Given the description of an element on the screen output the (x, y) to click on. 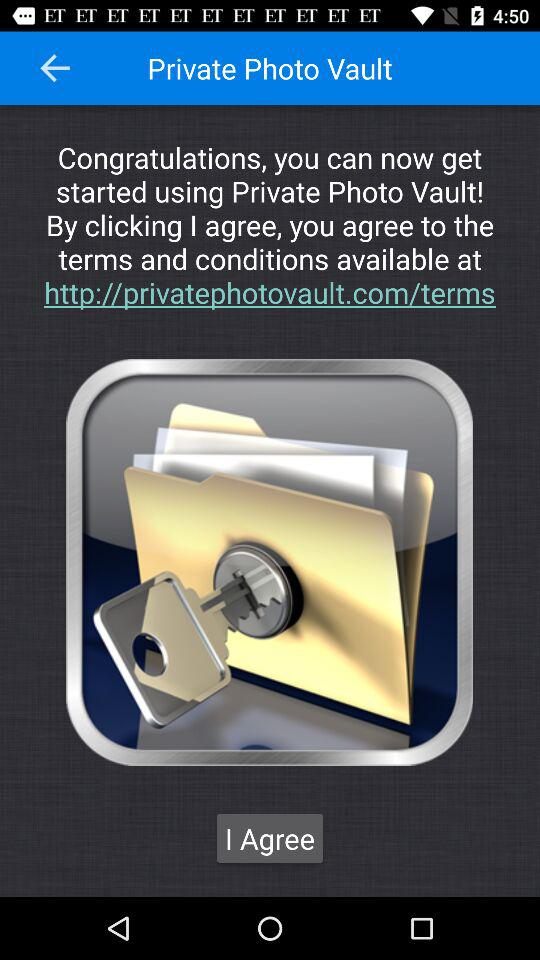
go back (55, 68)
